Given the description of an element on the screen output the (x, y) to click on. 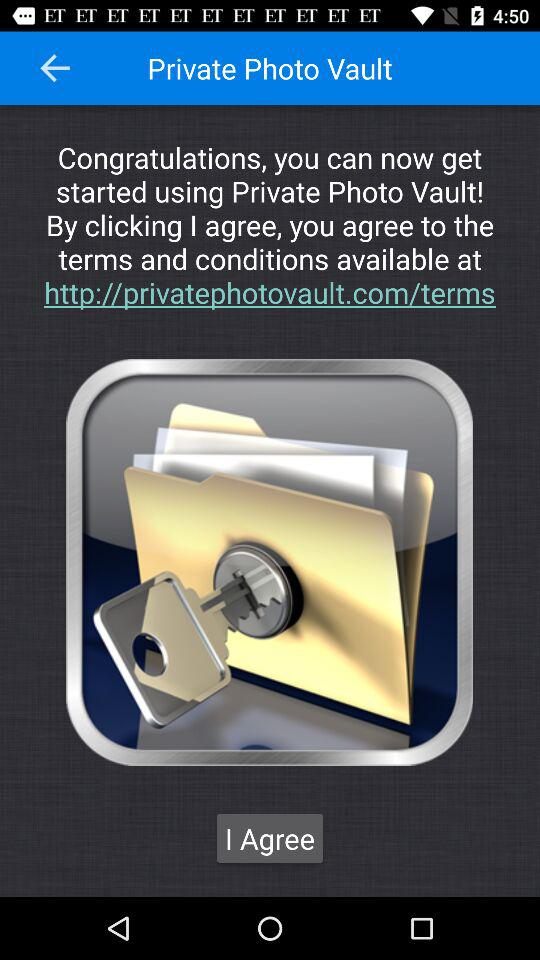
go back (55, 68)
